Given the description of an element on the screen output the (x, y) to click on. 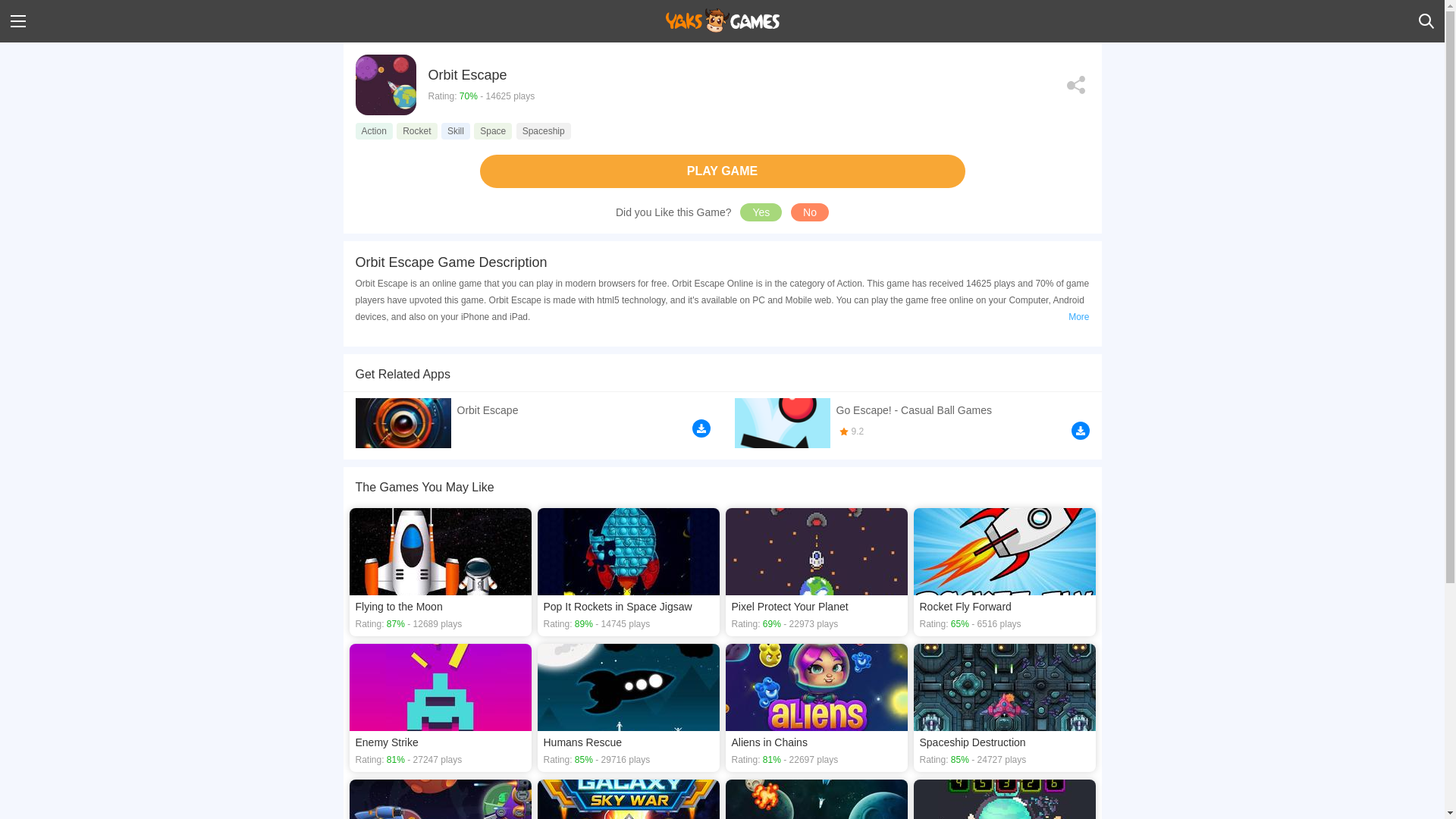
PLAY GAME (721, 171)
Flying to the Moon (440, 571)
Galaxy Sky War (628, 799)
Space (493, 130)
Aliens in Chains (816, 707)
Galactic Attack (440, 799)
Pop It Rockets in Space Jigsaw (628, 571)
Rocket online games (416, 130)
Yes (760, 212)
Skill online games (455, 130)
Orbit Escape (532, 420)
Rocket (416, 130)
Go Escape! - Casual Ball Games (911, 422)
Spaceship online games (543, 130)
Space online games (493, 130)
